Given the description of an element on the screen output the (x, y) to click on. 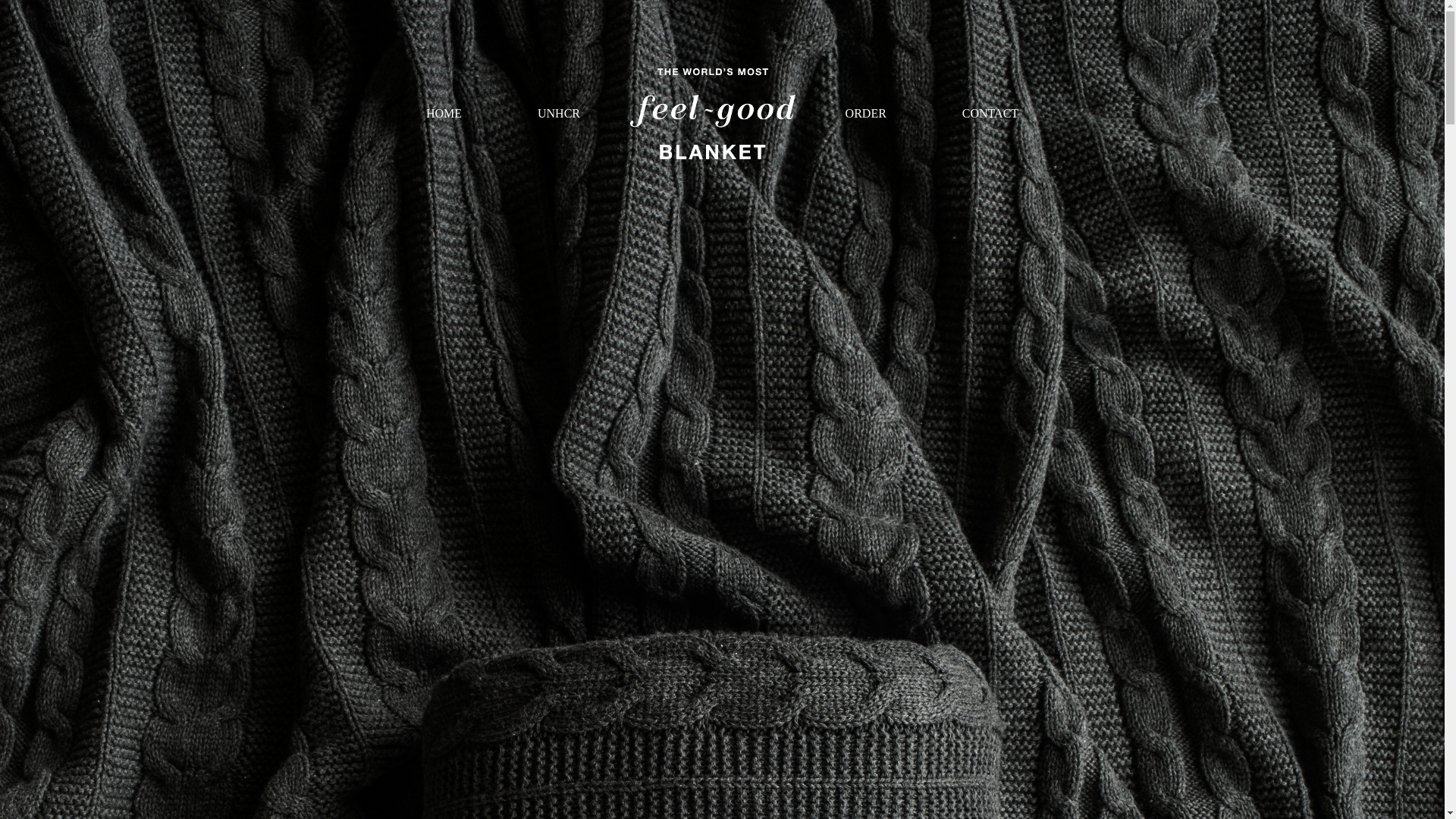
HOME (443, 113)
UNHCR (558, 113)
ORDER (865, 113)
CONTACT (989, 113)
